Given the description of an element on the screen output the (x, y) to click on. 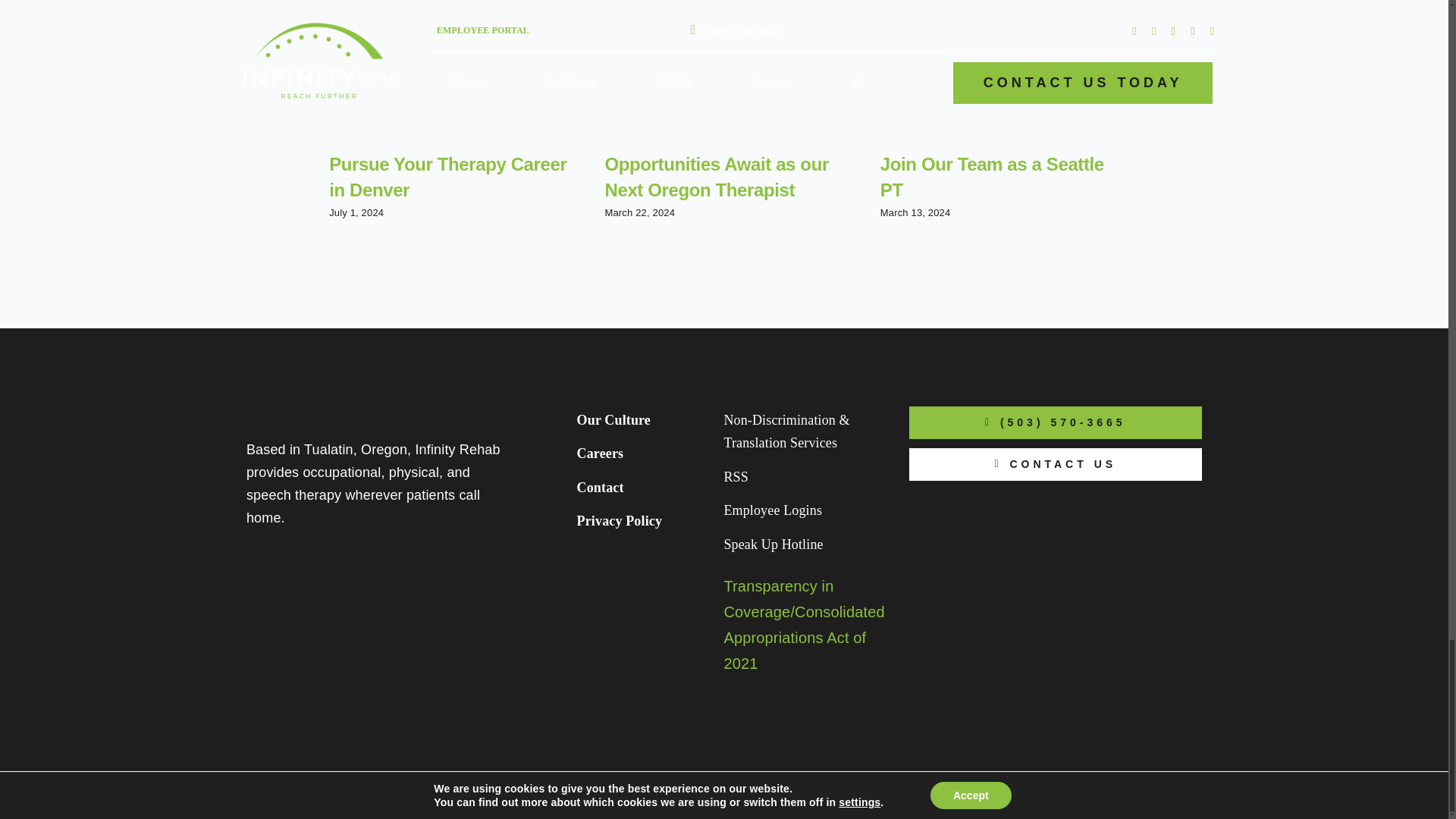
Pursue Your Therapy Career in Denver (447, 176)
